Given the description of an element on the screen output the (x, y) to click on. 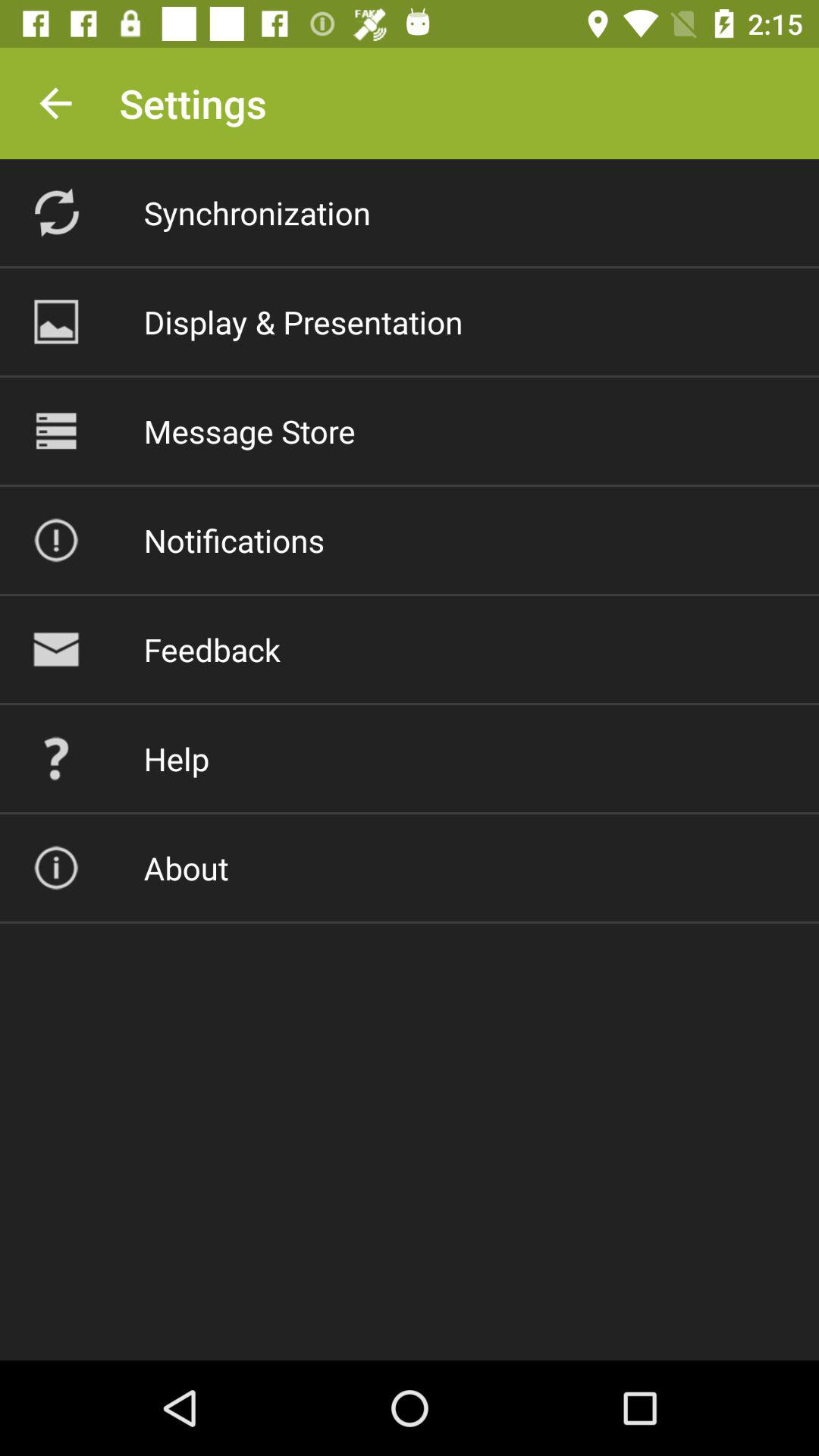
click the about (185, 867)
